Given the description of an element on the screen output the (x, y) to click on. 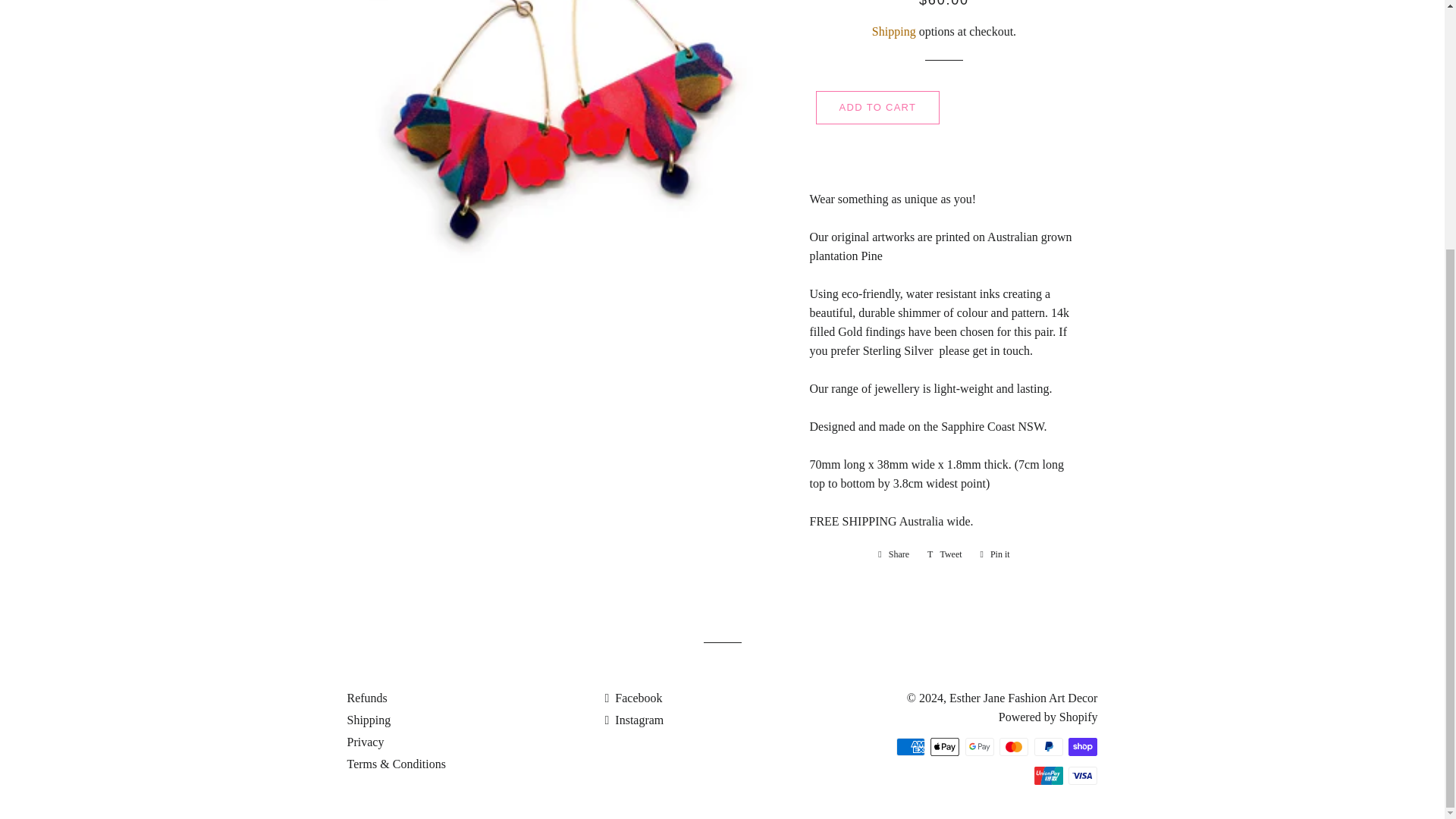
Esther Jane Fashion Art Decor on Facebook (633, 697)
American Express (910, 746)
Share on Facebook (893, 554)
Shop Pay (1082, 746)
Tweet on Twitter (944, 554)
Pin on Pinterest (994, 554)
Mastercard (1012, 746)
PayPal (1047, 746)
Apple Pay (944, 746)
Union Pay (1047, 775)
Google Pay (979, 746)
Esther Jane Fashion Art Decor on Instagram (633, 719)
Visa (1082, 775)
